Given the description of an element on the screen output the (x, y) to click on. 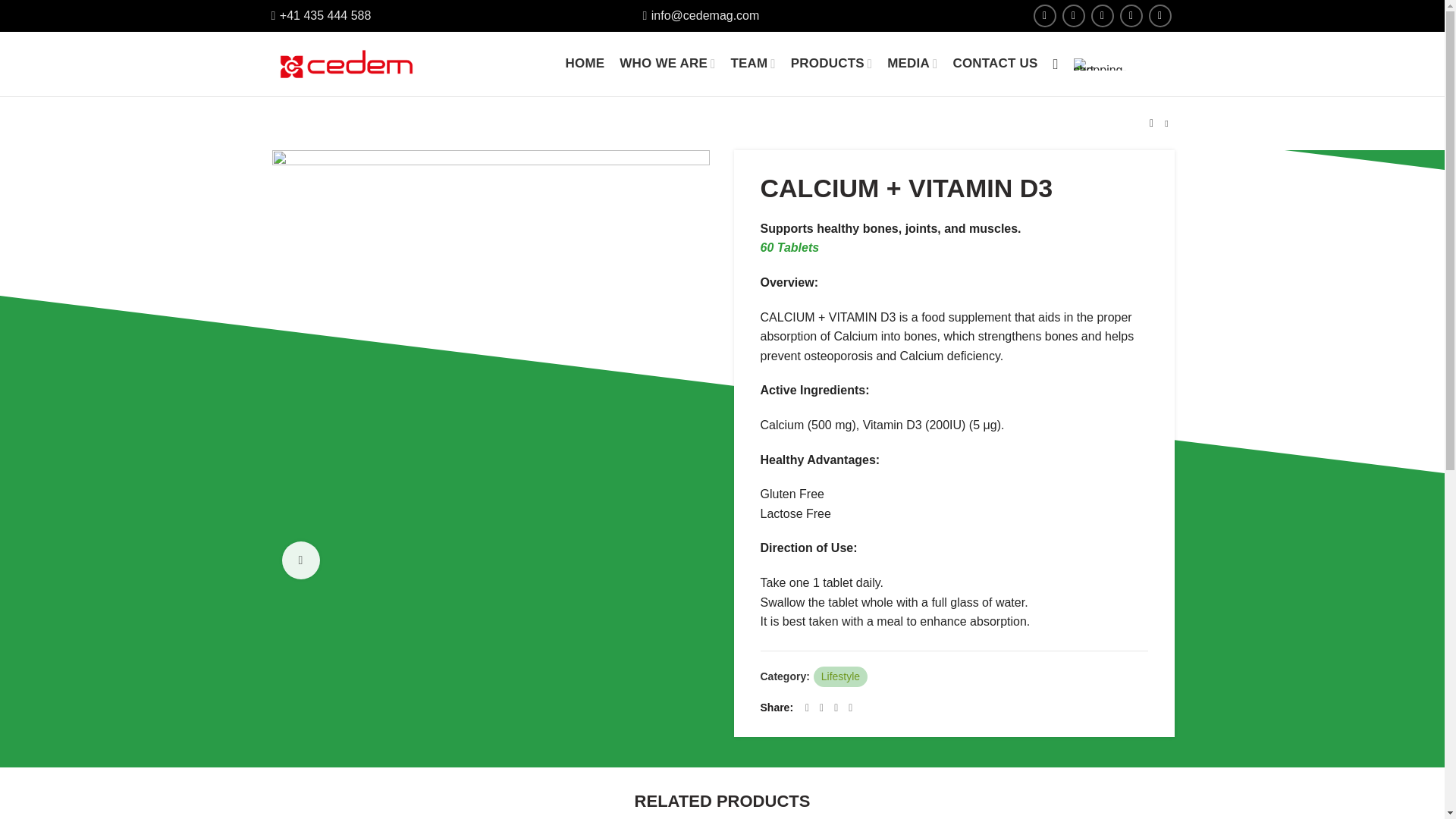
TEAM (752, 63)
shopping-cart (1100, 63)
Home (285, 123)
Linkedin (1101, 15)
CONTACT US (994, 63)
MEDIA (911, 63)
Youtube (1159, 15)
whatsapp (1072, 15)
HOME (584, 63)
WHO WE ARE (666, 63)
